Given the description of an element on the screen output the (x, y) to click on. 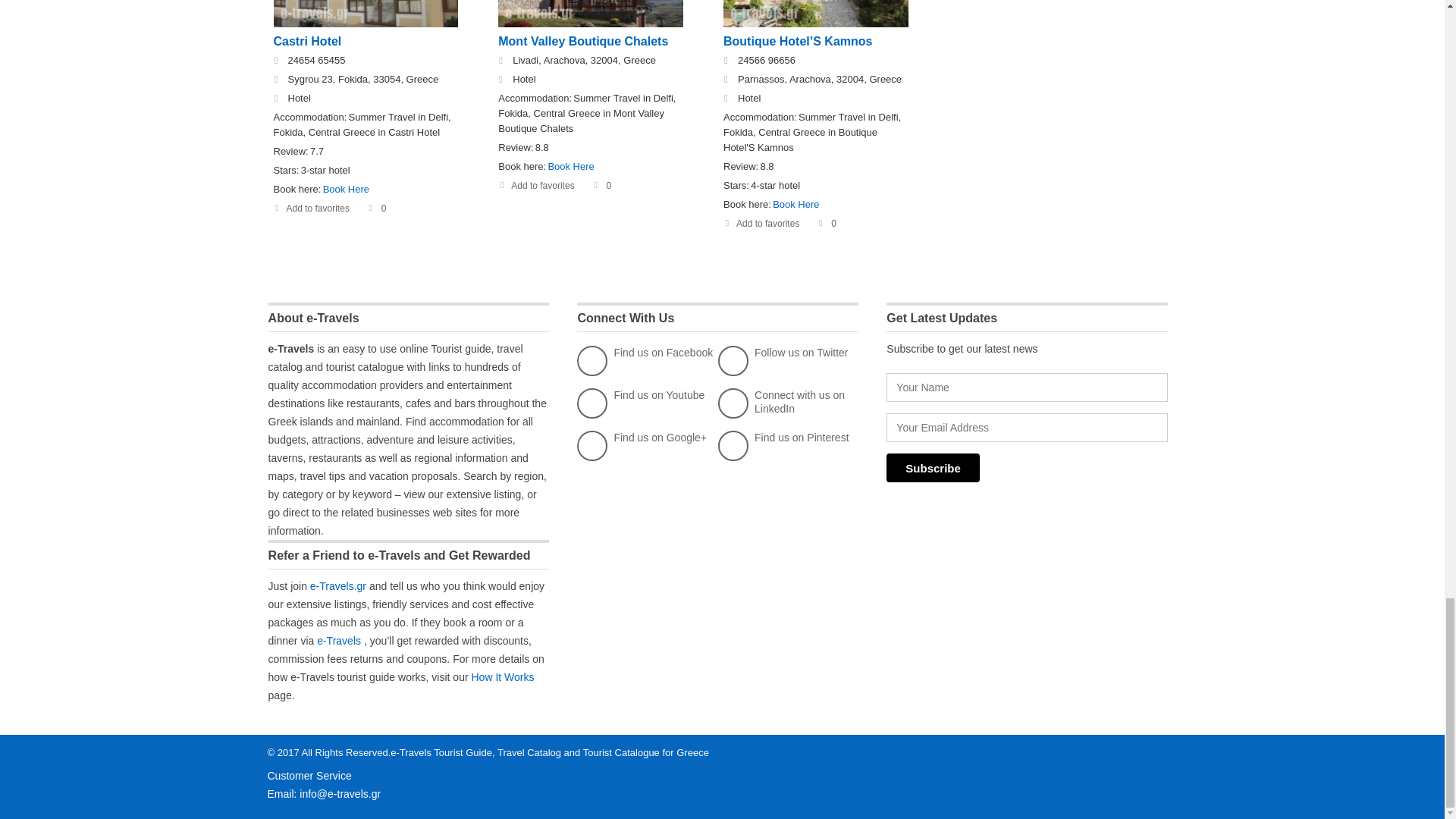
Subscribe (932, 467)
